Given the description of an element on the screen output the (x, y) to click on. 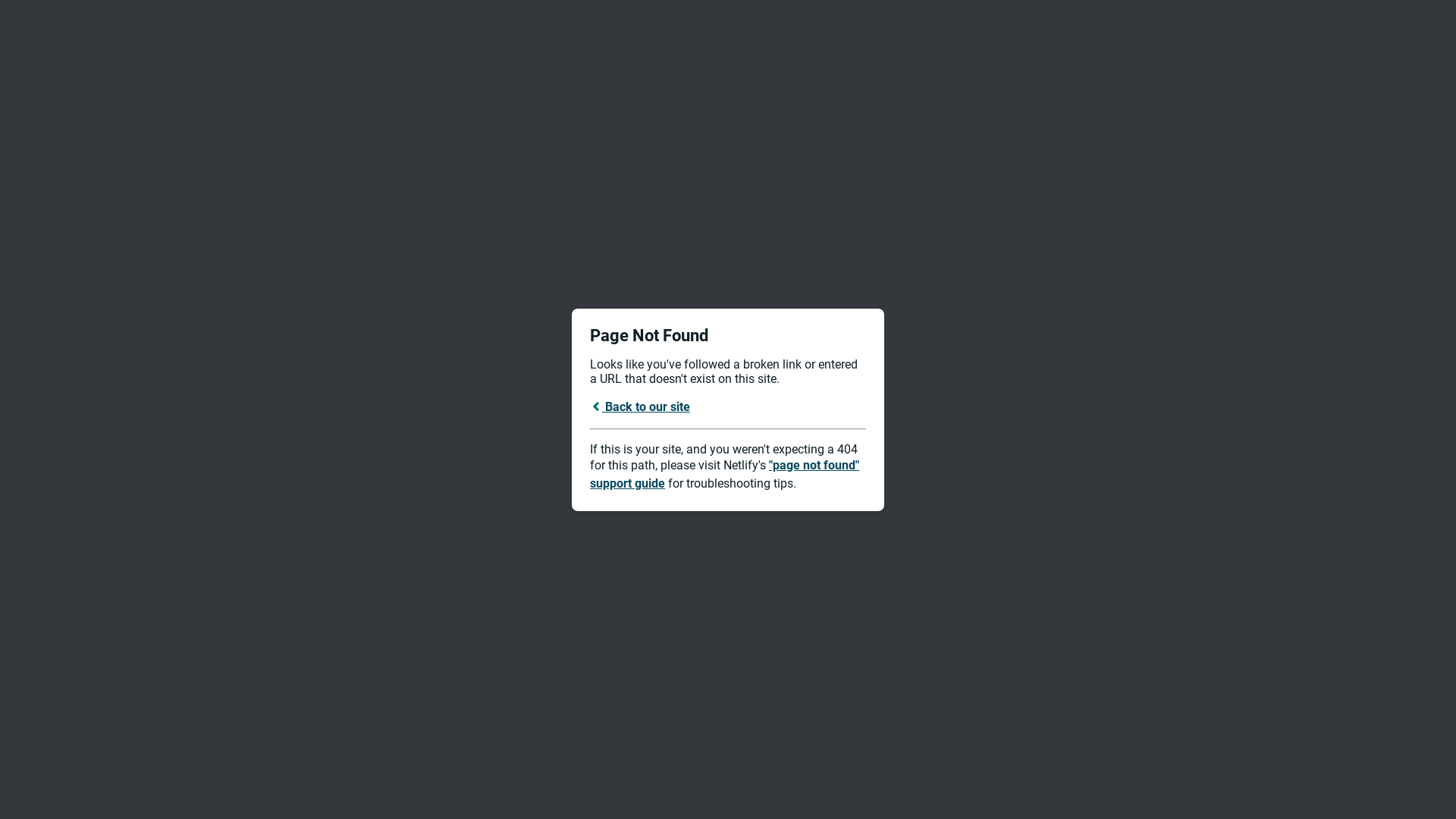
Back to our site Element type: text (639, 405)
"page not found" support guide Element type: text (724, 474)
